Given the description of an element on the screen output the (x, y) to click on. 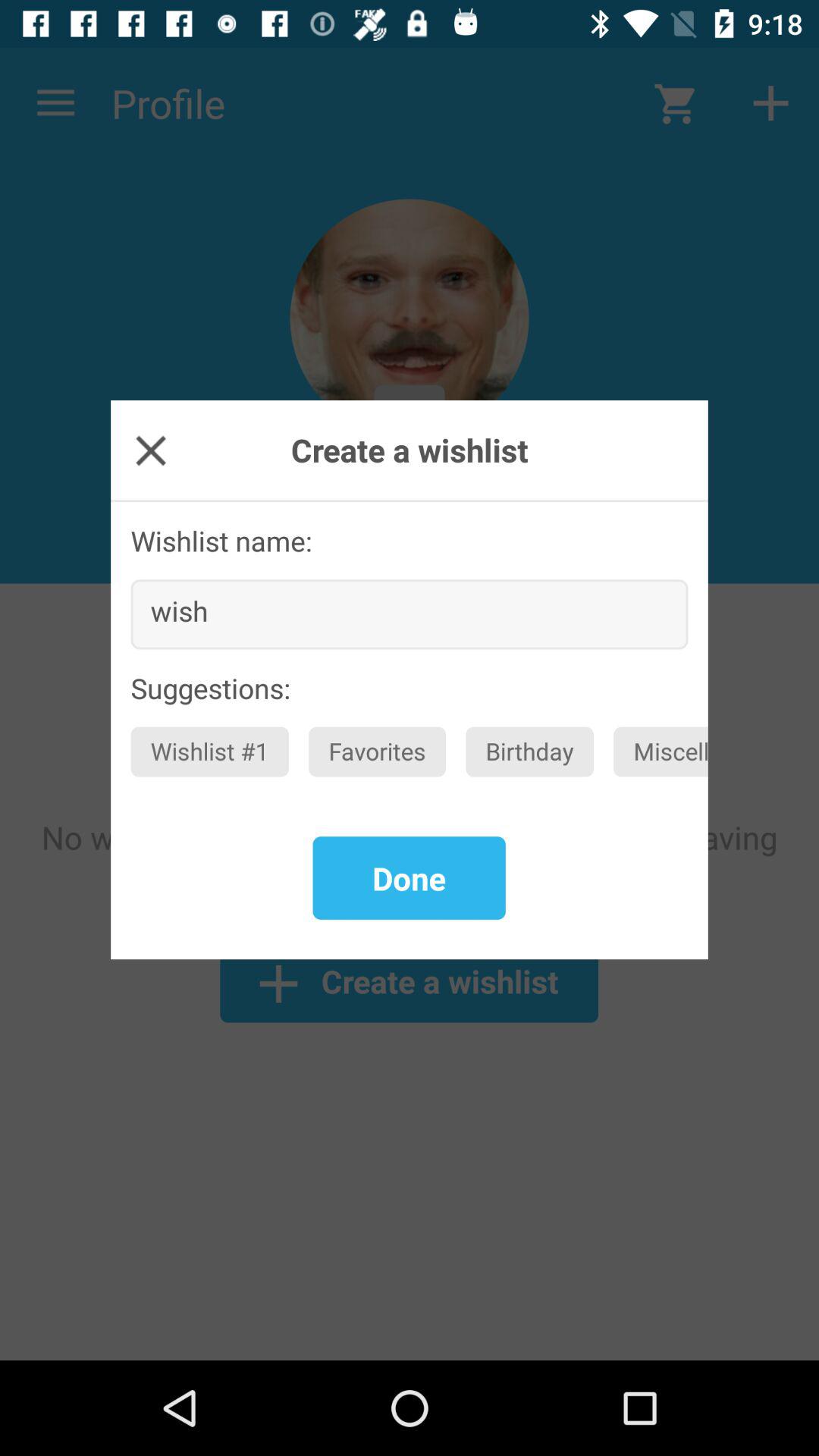
close create a wishlist (150, 450)
